Given the description of an element on the screen output the (x, y) to click on. 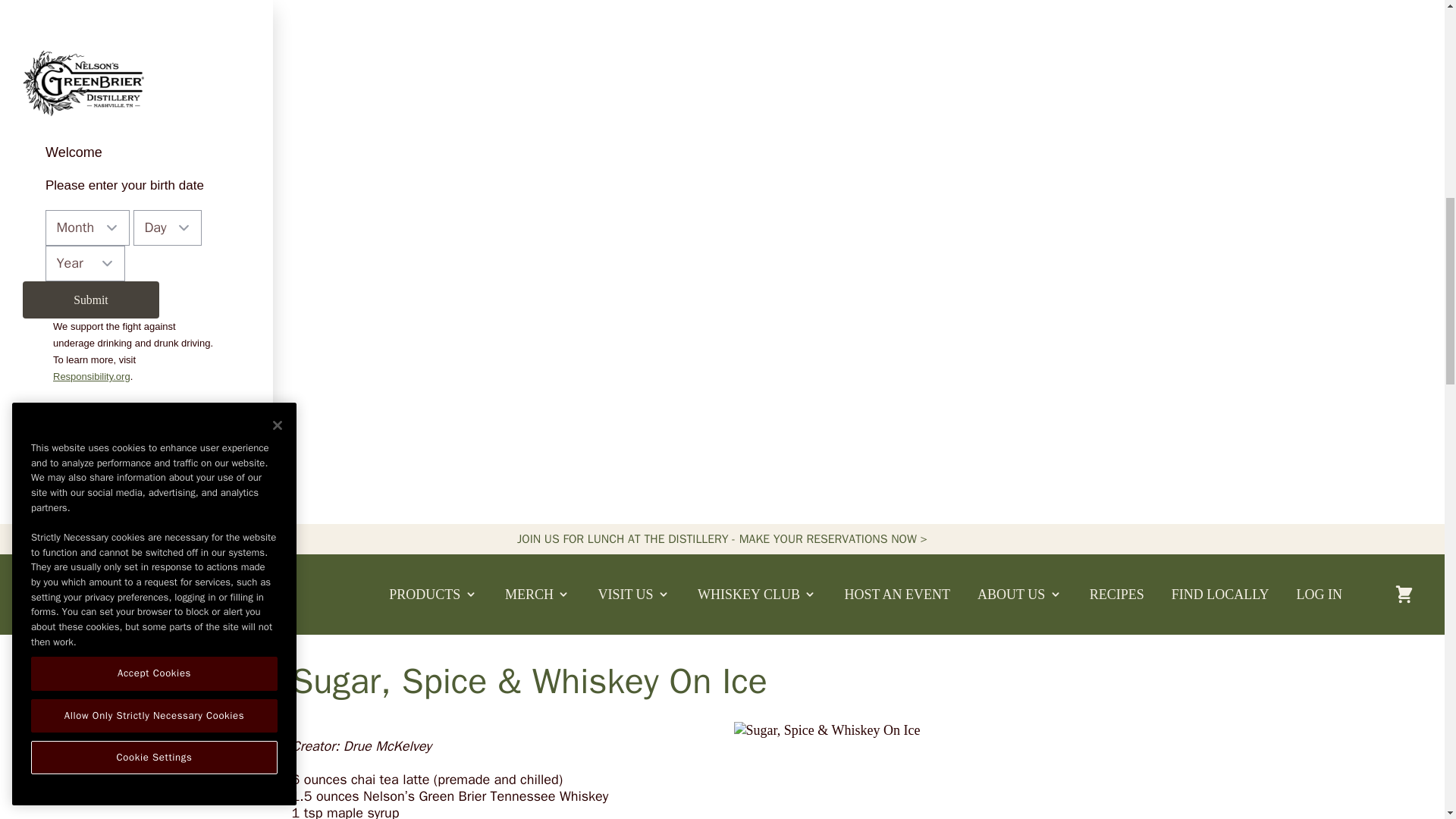
Responsibility.org (91, 376)
ABOUT US (1019, 594)
Month (87, 227)
Nelson's Green Brier Distillery (69, 594)
NELSON'S GREEN BRIER DISTILLERY PRIVACY POLICY AND RULES (100, 426)
Terms of Service (126, 434)
Submit (90, 299)
VISIT US (633, 594)
Day (167, 227)
PRODUCTS (433, 594)
Year (85, 263)
HOST AN EVENT (896, 594)
Terms and Conditions (126, 434)
Privacy Notice (100, 426)
WHISKEY CLUB (756, 594)
